Given the description of an element on the screen output the (x, y) to click on. 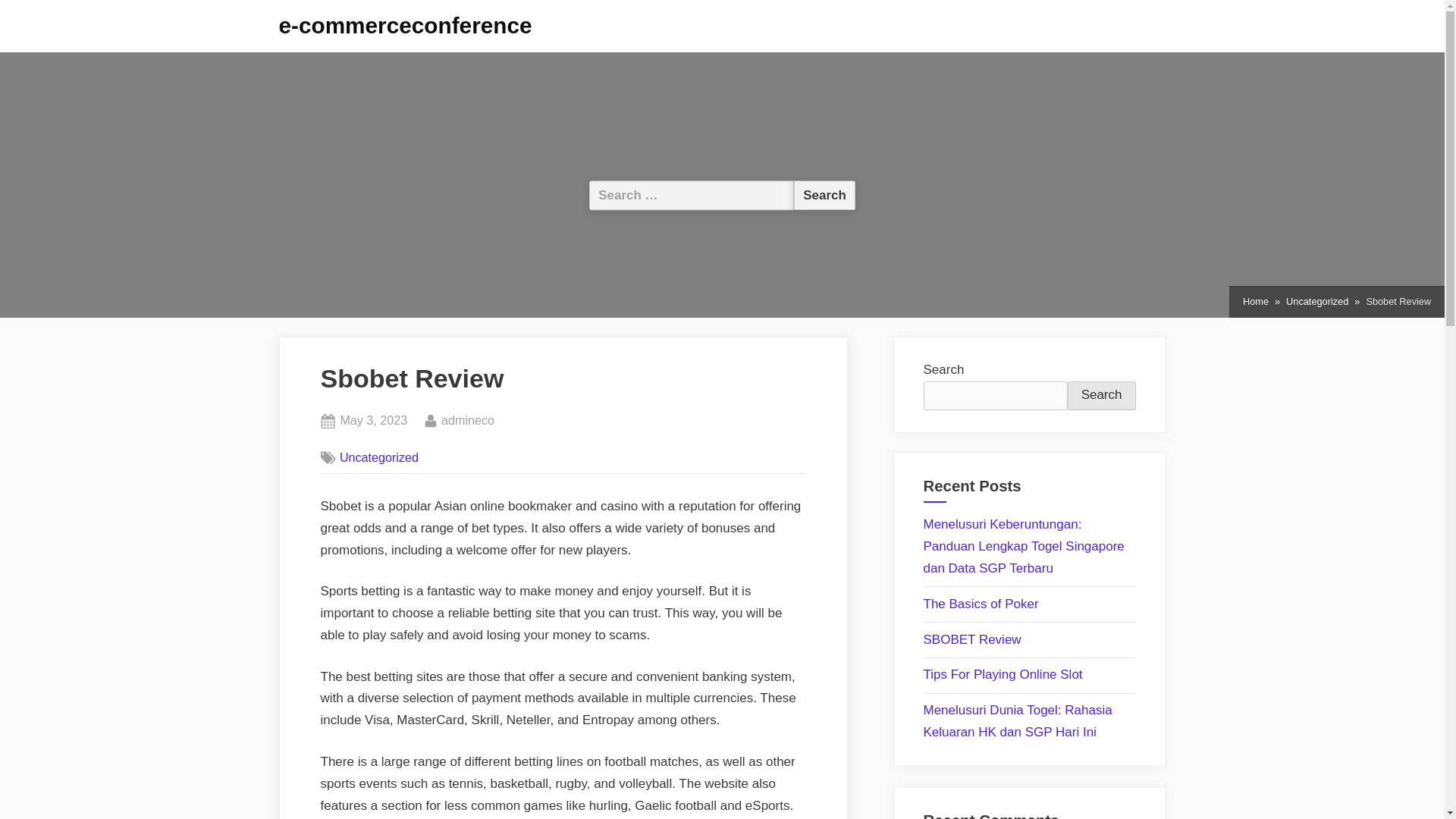
Uncategorized (379, 457)
SBOBET Review (972, 639)
The Basics of Poker (981, 603)
Home (1255, 301)
Tips For Playing Online Slot (1003, 674)
e-commerceconference (373, 420)
Search (405, 25)
Search (824, 194)
Search (824, 194)
Uncategorized (824, 194)
Menelusuri Dunia Togel: Rahasia Keluaran HK dan SGP Hari Ini (1316, 301)
Search (1017, 720)
